Given the description of an element on the screen output the (x, y) to click on. 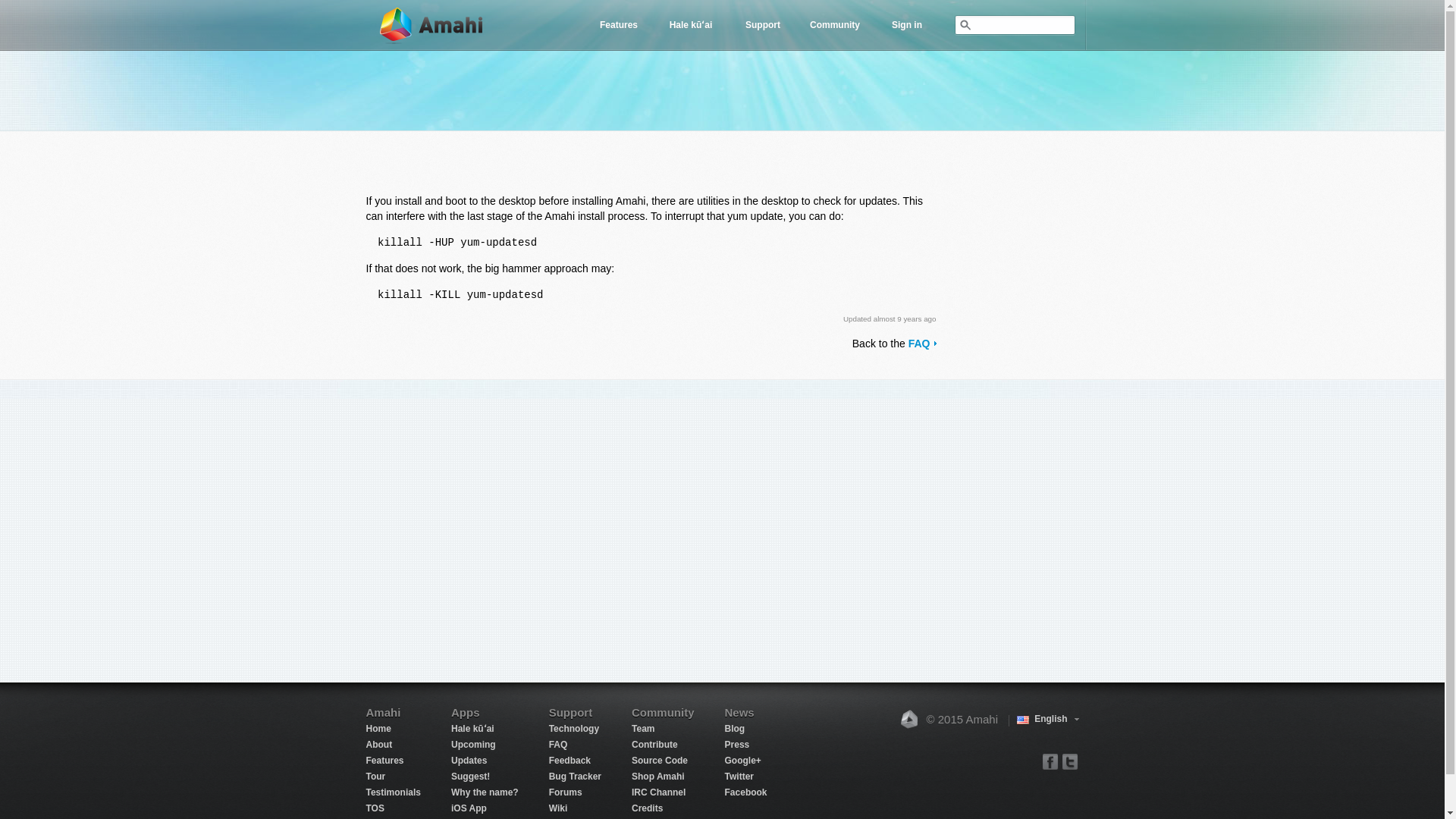
TOS (374, 808)
Amahi (430, 24)
Features (384, 760)
Sign in (906, 24)
Testimonials (392, 792)
Tour (375, 776)
Home (377, 728)
FAQ (922, 343)
Community (834, 24)
Suggest! (470, 776)
